Given the description of an element on the screen output the (x, y) to click on. 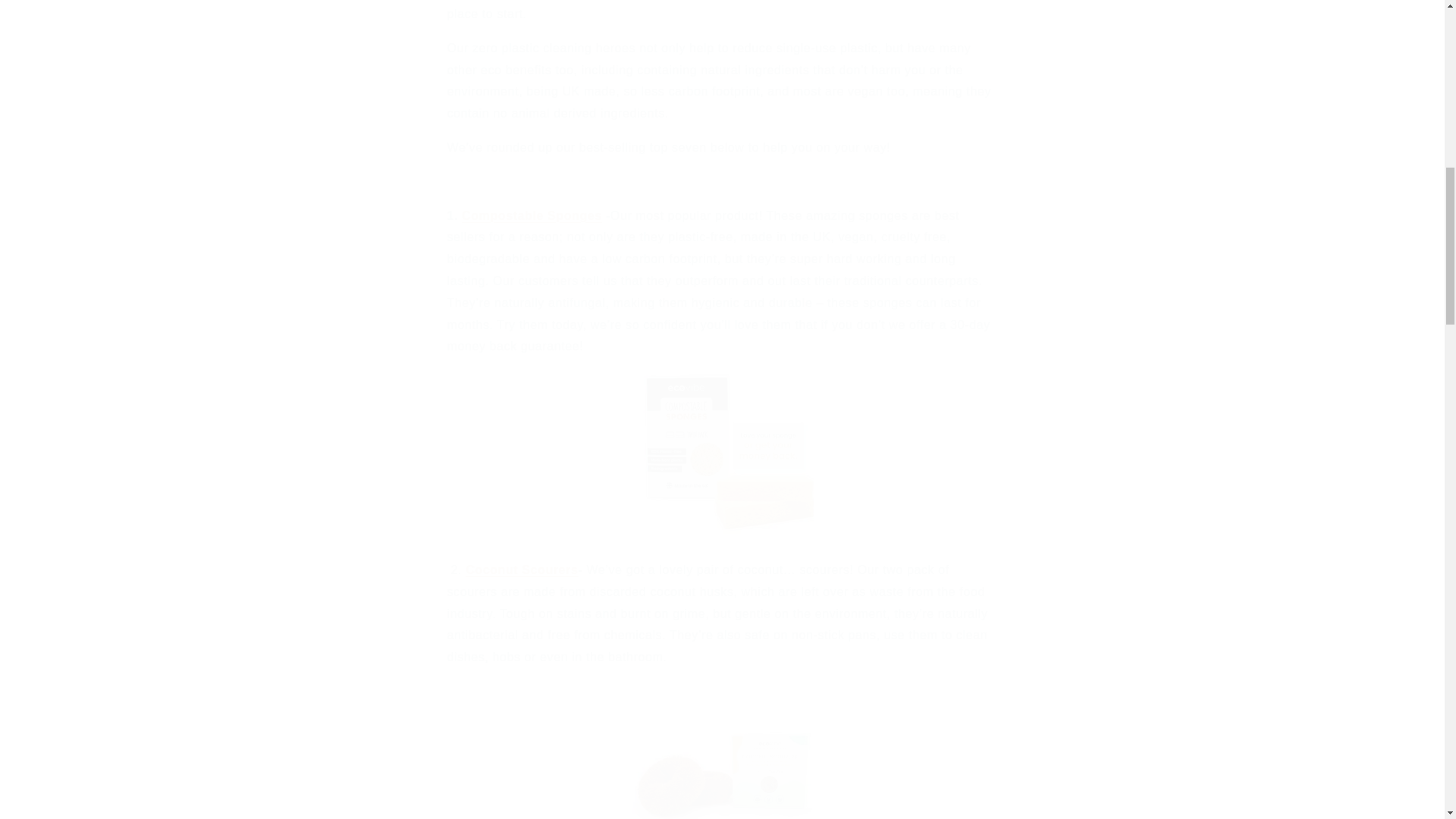
Coconut Scourers (521, 569)
Compostable Sponges (531, 215)
